Given the description of an element on the screen output the (x, y) to click on. 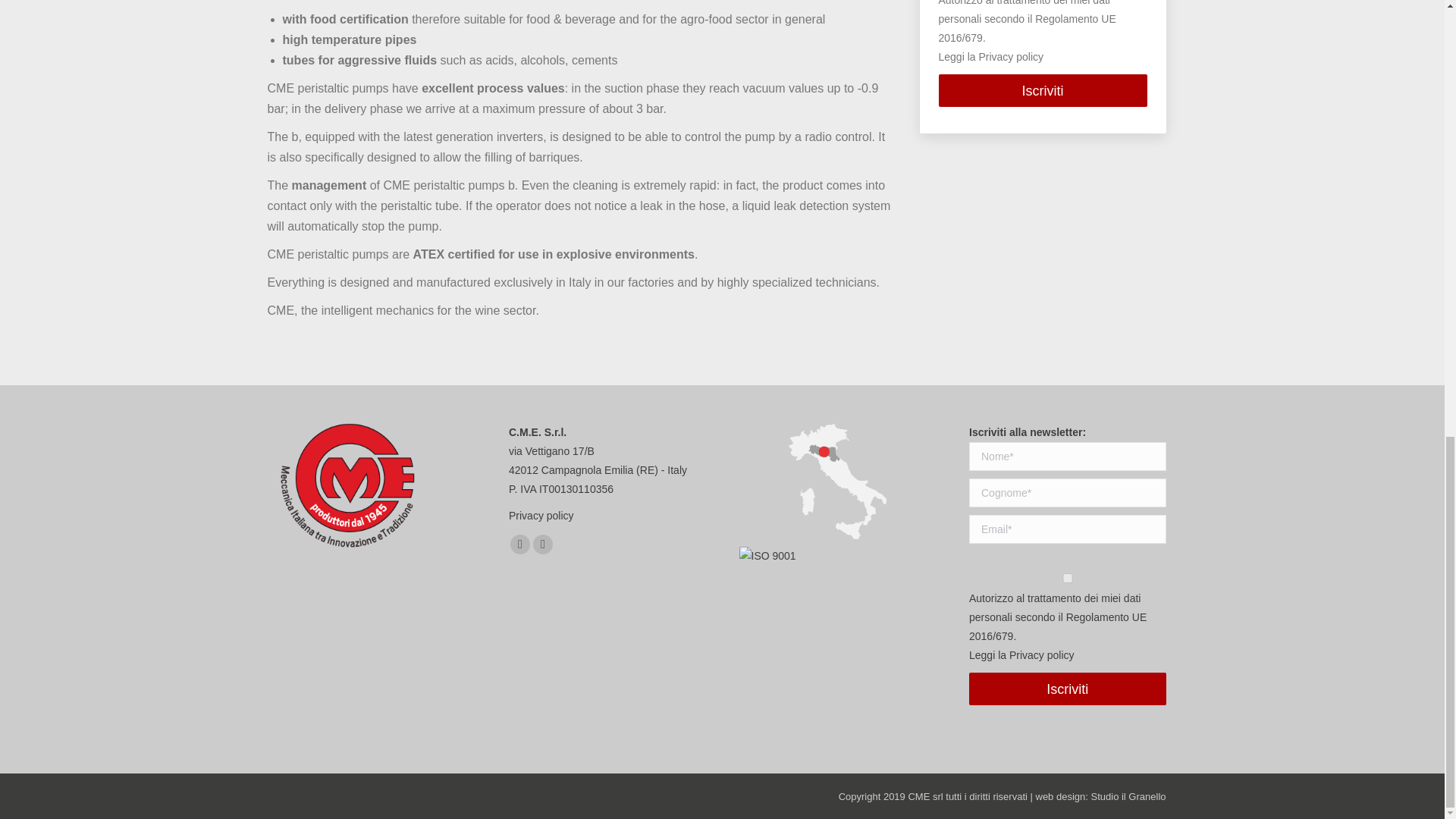
Privacy policy (607, 515)
Iscriviti (1067, 688)
Linkedin (520, 544)
YouTube (542, 544)
YouTube (542, 544)
Iscriviti (1043, 90)
Linkedin (520, 544)
Privacy policy (1010, 56)
Iscriviti (1043, 90)
